Given the description of an element on the screen output the (x, y) to click on. 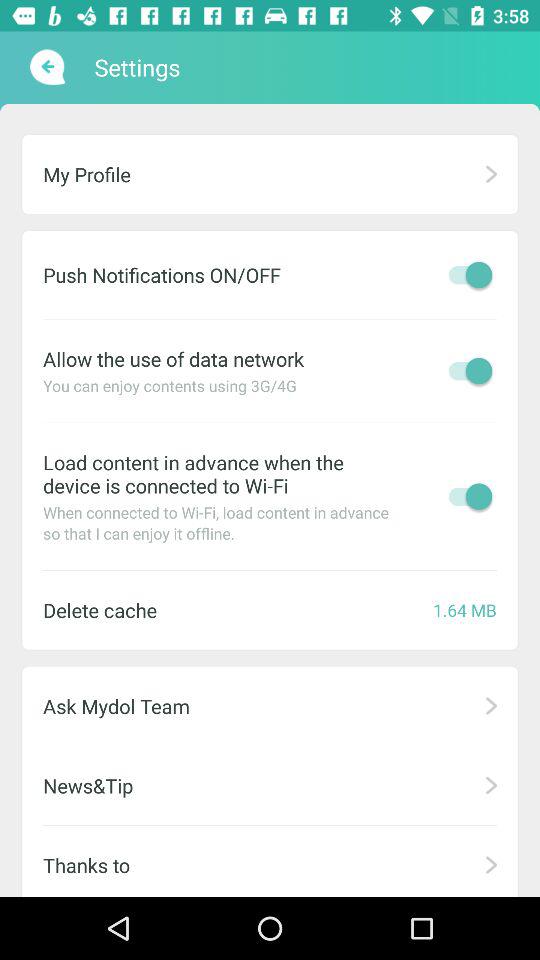
turn off/on setting (465, 496)
